Given the description of an element on the screen output the (x, y) to click on. 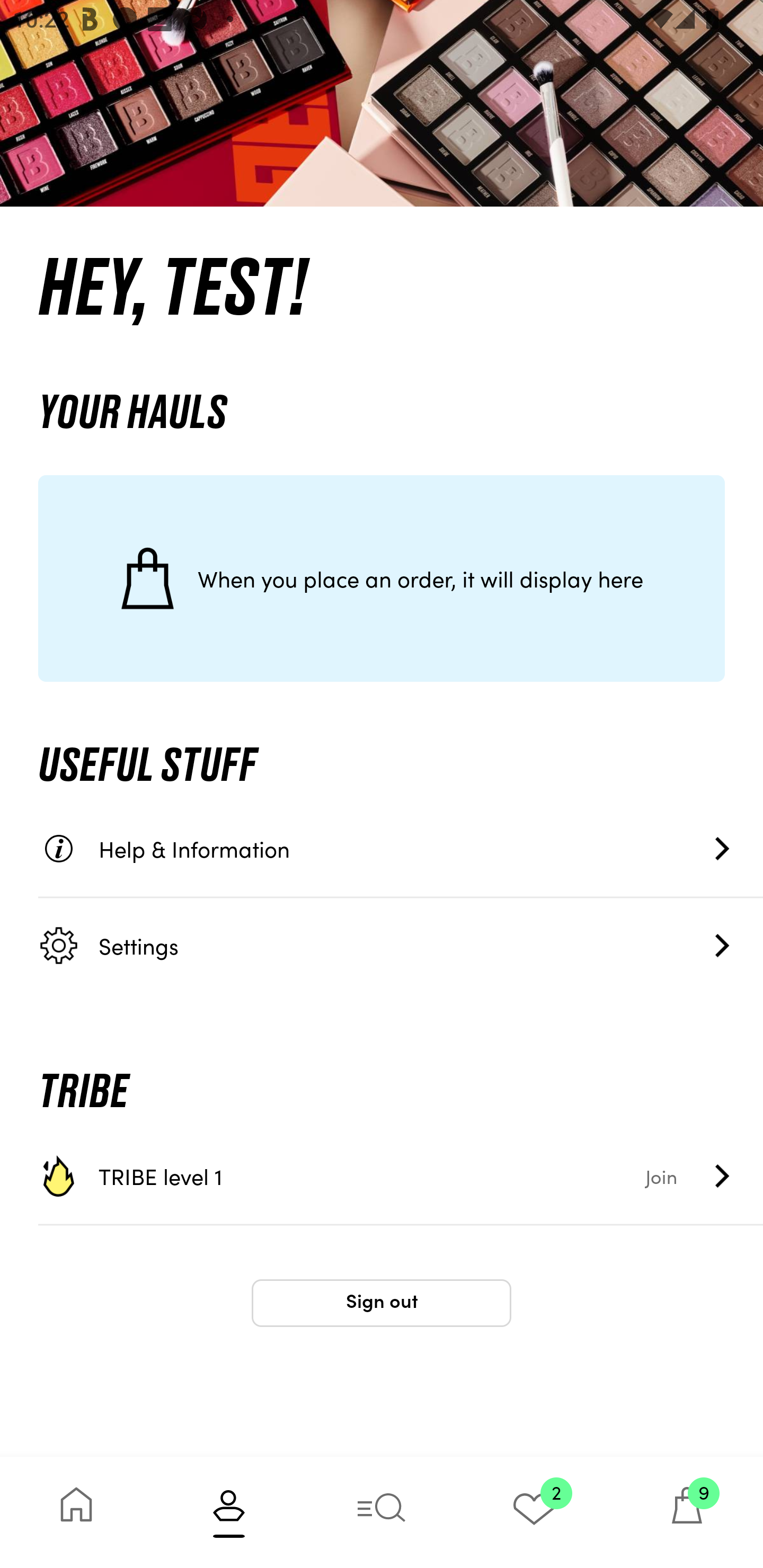
Help & Information (400, 848)
Settings (400, 945)
TRIBE level 1 Join (400, 1175)
Sign out (381, 1302)
2 (533, 1512)
9 (686, 1512)
